Given the description of an element on the screen output the (x, y) to click on. 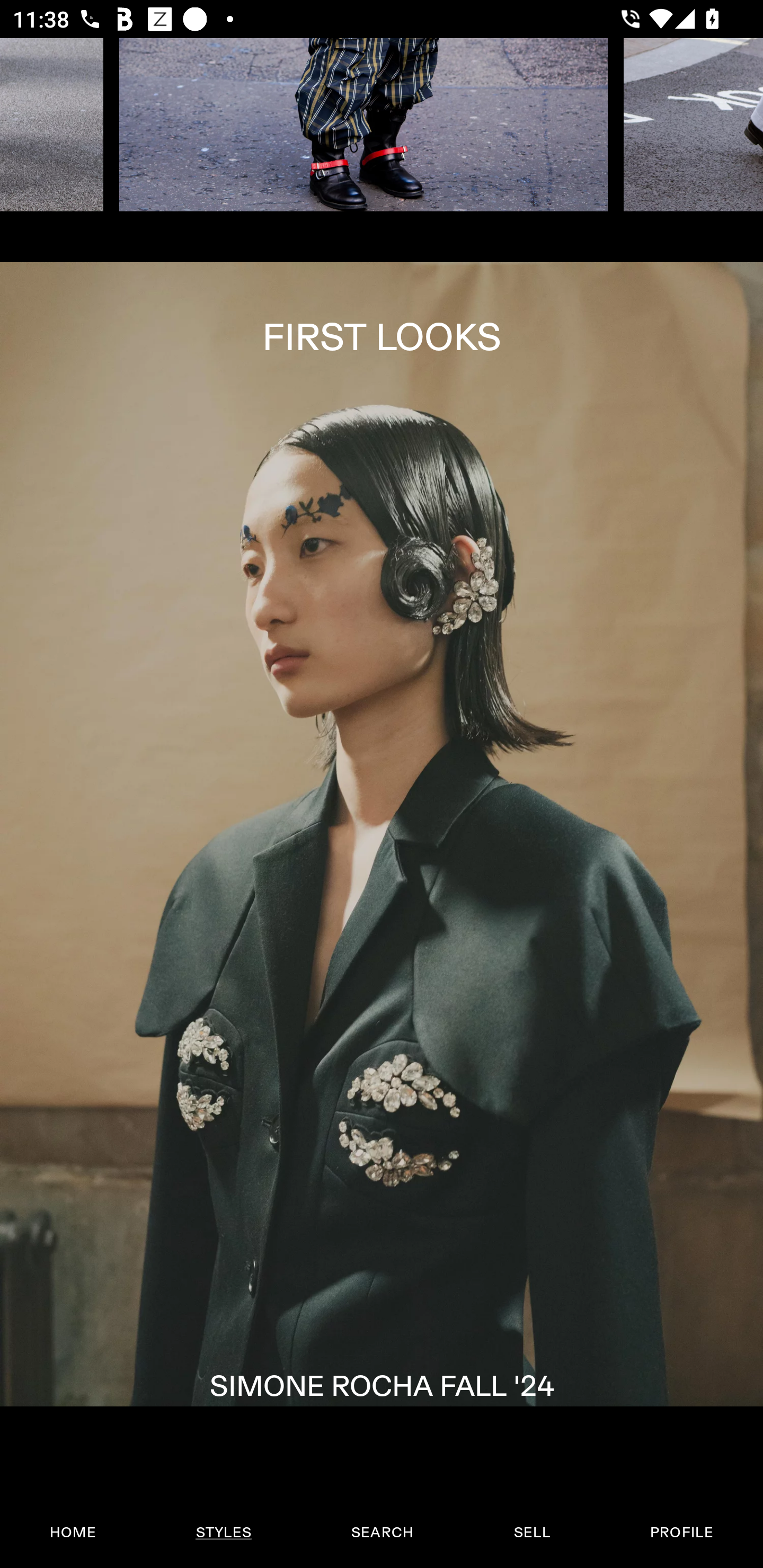
HOME (72, 1532)
STYLES (222, 1532)
SEARCH (381, 1532)
SELL (531, 1532)
PROFILE (681, 1532)
